Given the description of an element on the screen output the (x, y) to click on. 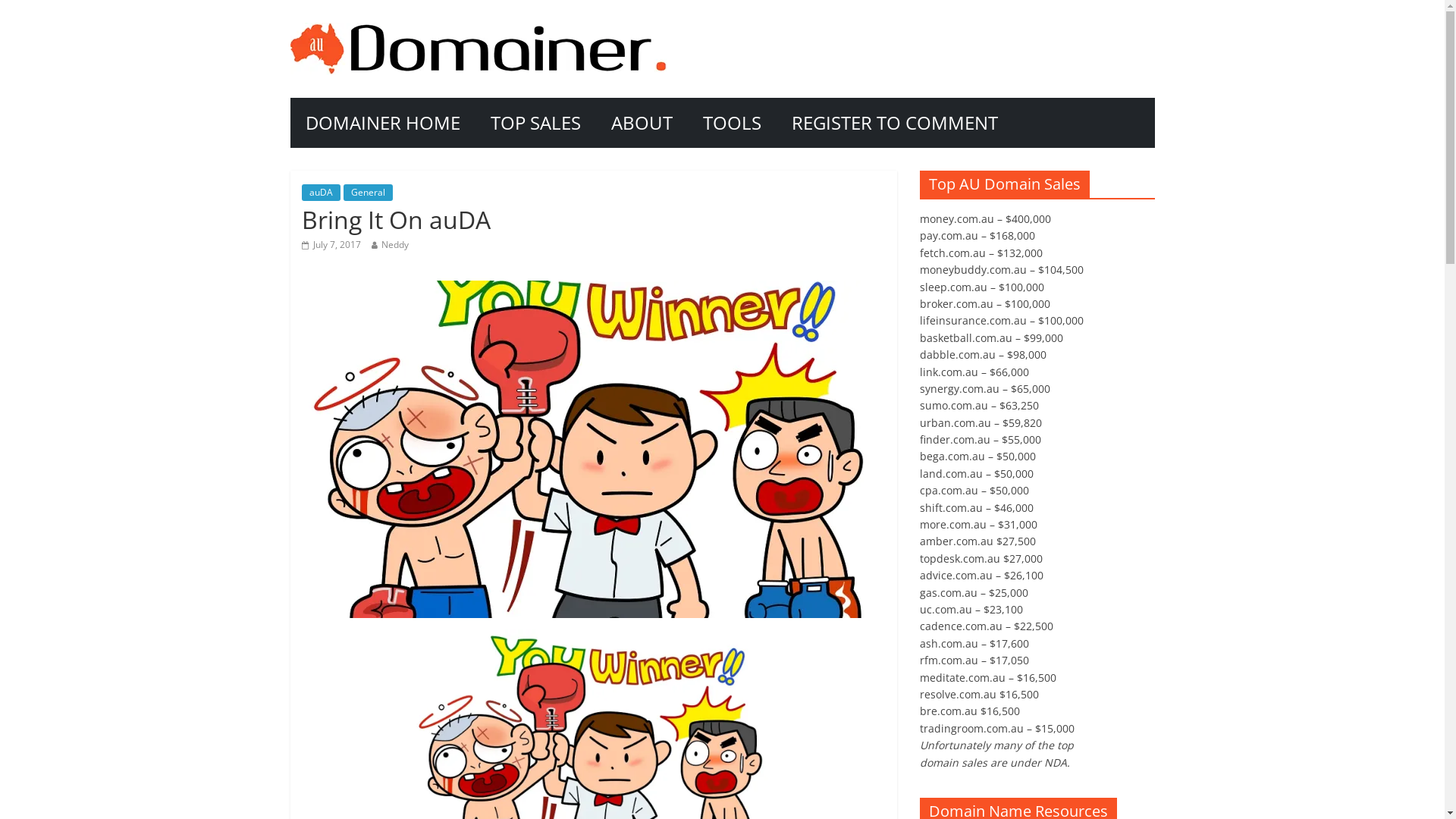
General Element type: text (367, 192)
TOP SALES Element type: text (534, 122)
REGISTER TO COMMENT Element type: text (894, 122)
ABOUT Element type: text (641, 122)
July 7, 2017 Element type: text (330, 244)
TOOLS Element type: text (731, 122)
auDA Element type: text (320, 192)
Neddy Element type: text (393, 244)
DOMAINER HOME Element type: text (381, 122)
